Given the description of an element on the screen output the (x, y) to click on. 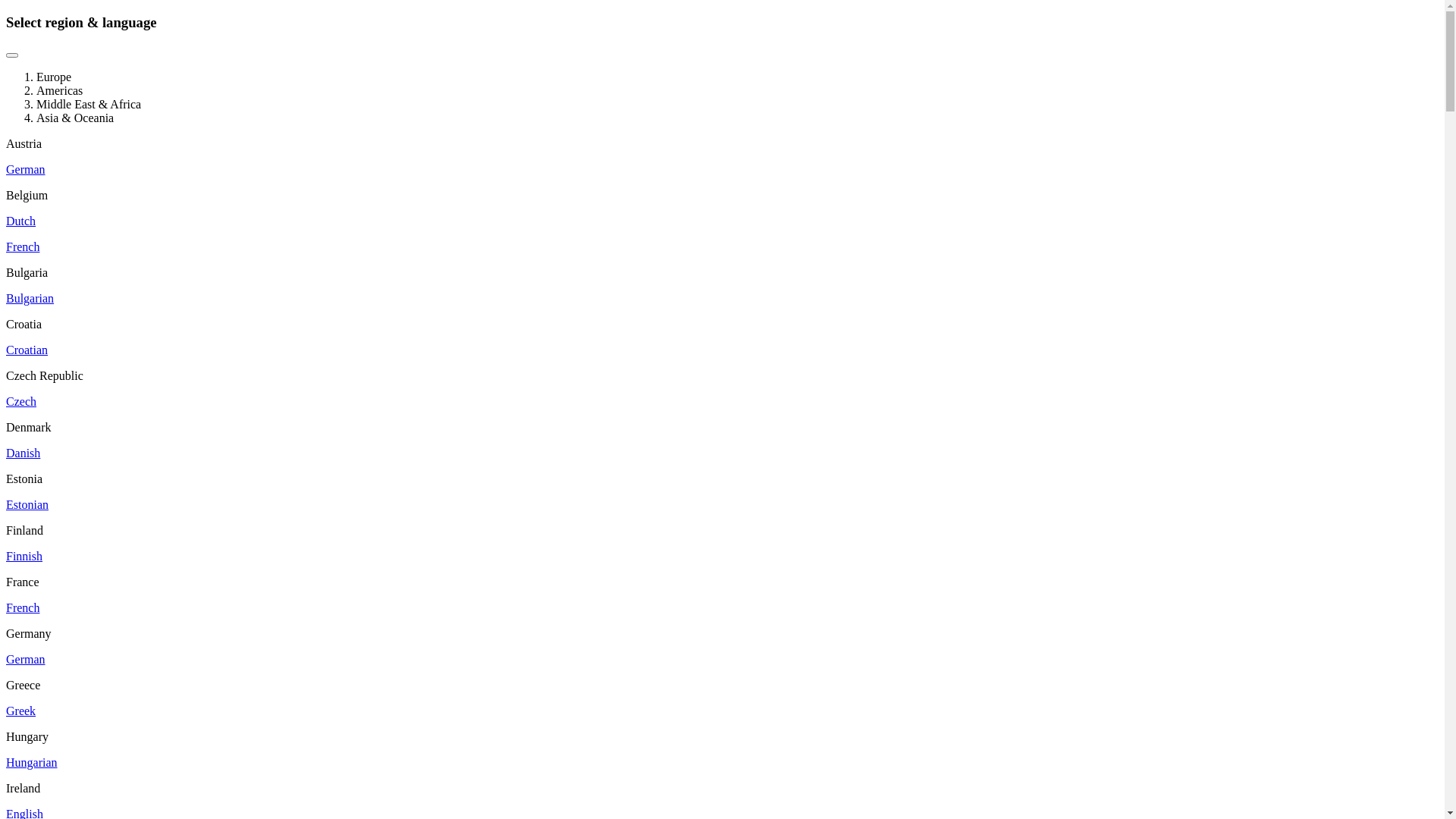
Hungarian Element type: text (31, 762)
Estonian Element type: text (27, 504)
French Element type: text (22, 246)
German Element type: text (25, 169)
Croatian Element type: text (26, 349)
Dutch Element type: text (20, 220)
German Element type: text (25, 658)
Bulgarian Element type: text (29, 297)
Finnish Element type: text (24, 555)
Greek Element type: text (20, 710)
Czech Element type: text (21, 401)
Danish Element type: text (23, 452)
French Element type: text (22, 607)
